Given the description of an element on the screen output the (x, y) to click on. 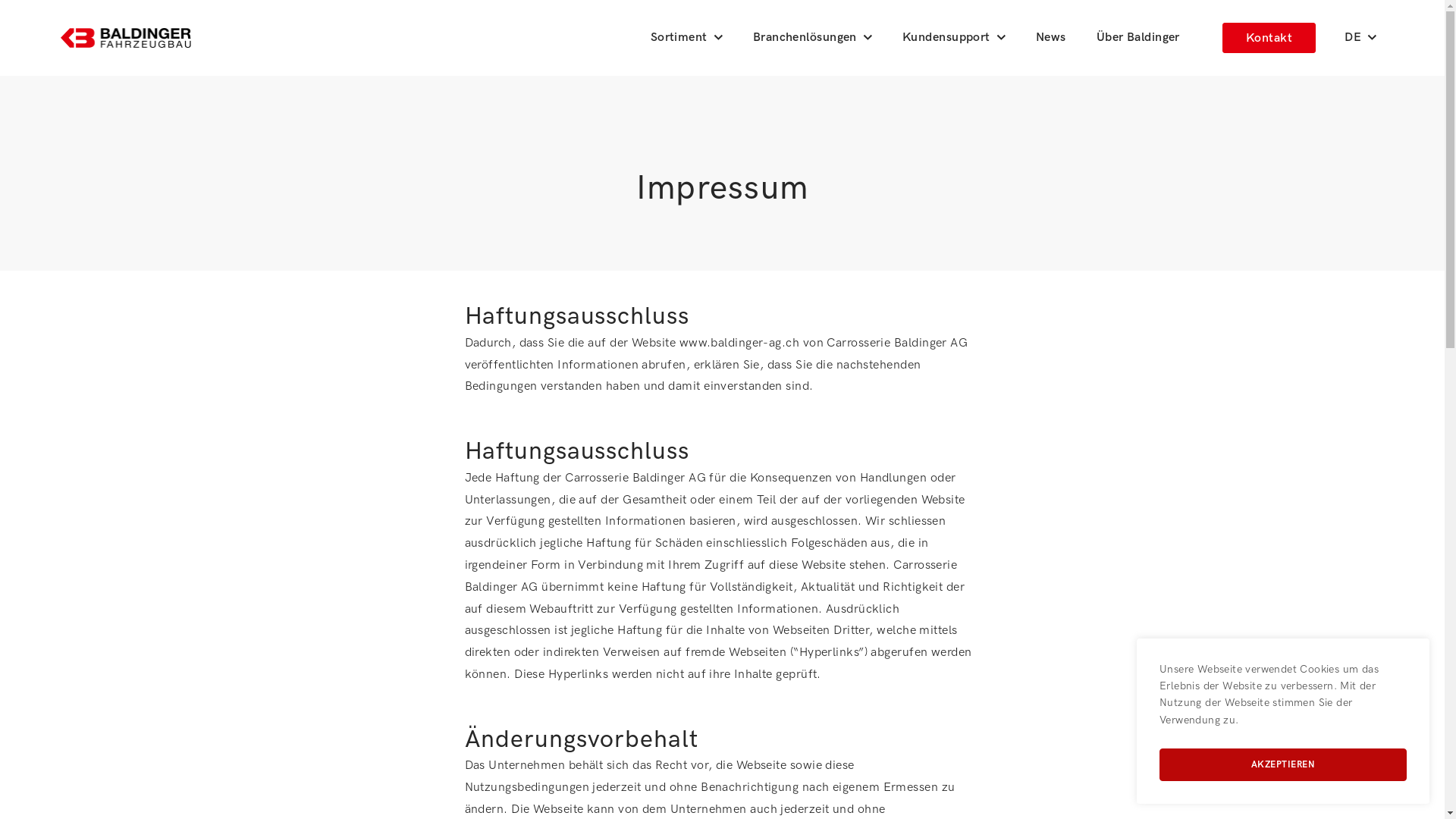
Sortiment Element type: text (686, 37)
News Element type: text (1050, 37)
DE Element type: text (1359, 37)
AKZEPTIEREN Element type: text (1282, 764)
Kundensupport Element type: text (953, 37)
Kontakt Element type: text (1268, 37)
